Given the description of an element on the screen output the (x, y) to click on. 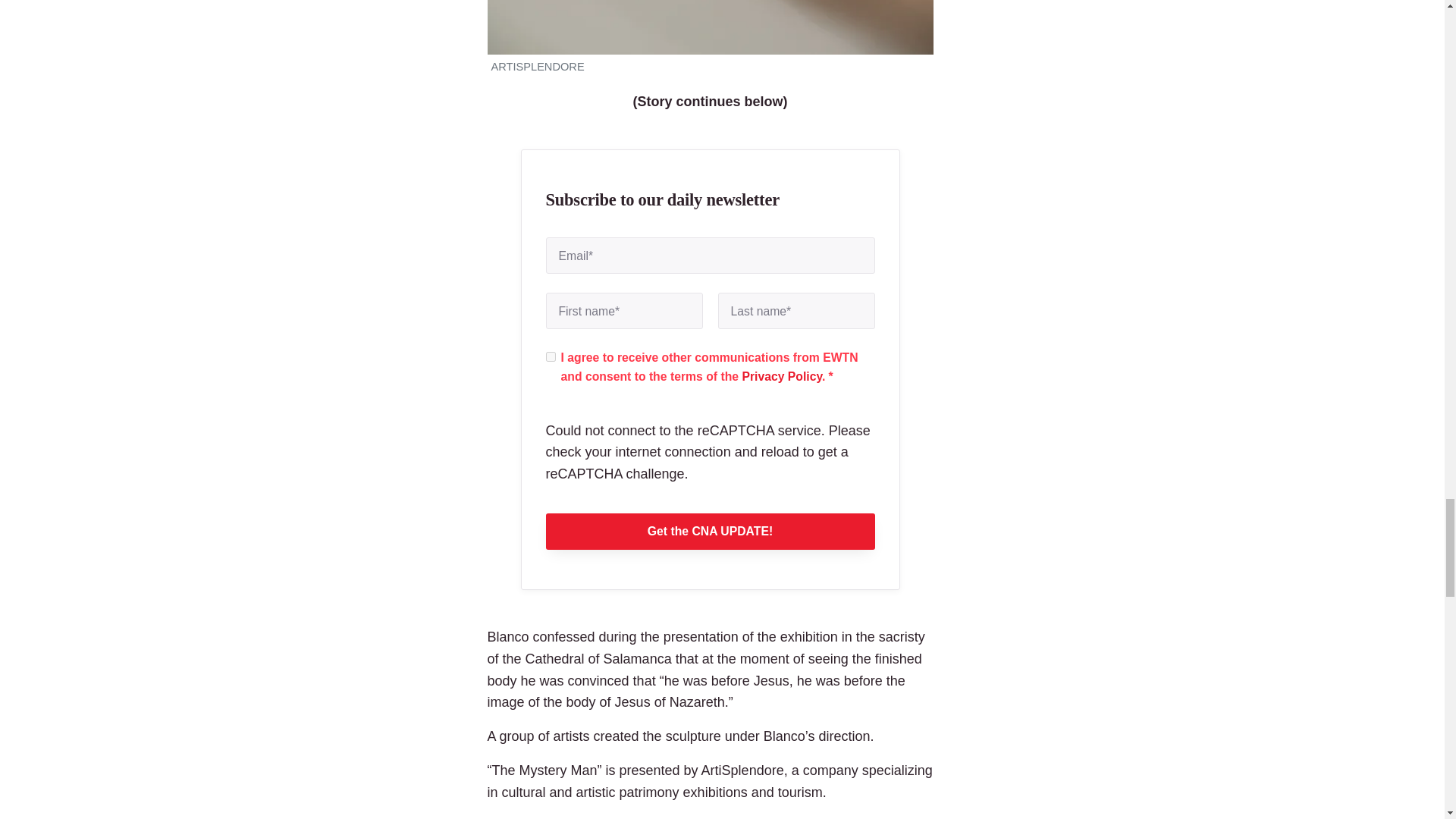
true (551, 356)
Get the CNA UPDATE! (710, 531)
